Given the description of an element on the screen output the (x, y) to click on. 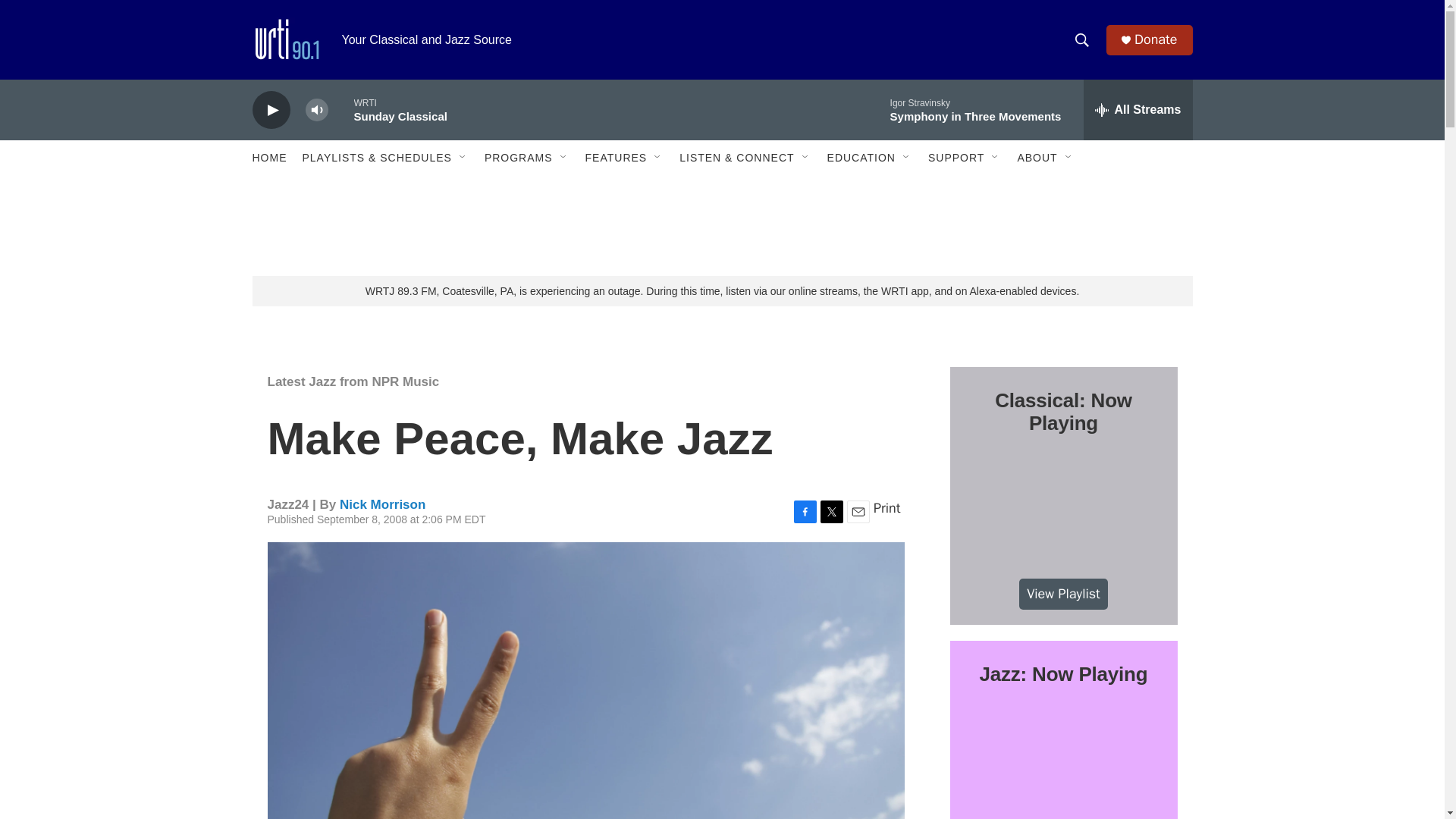
3rd party ad content (722, 225)
